Given the description of an element on the screen output the (x, y) to click on. 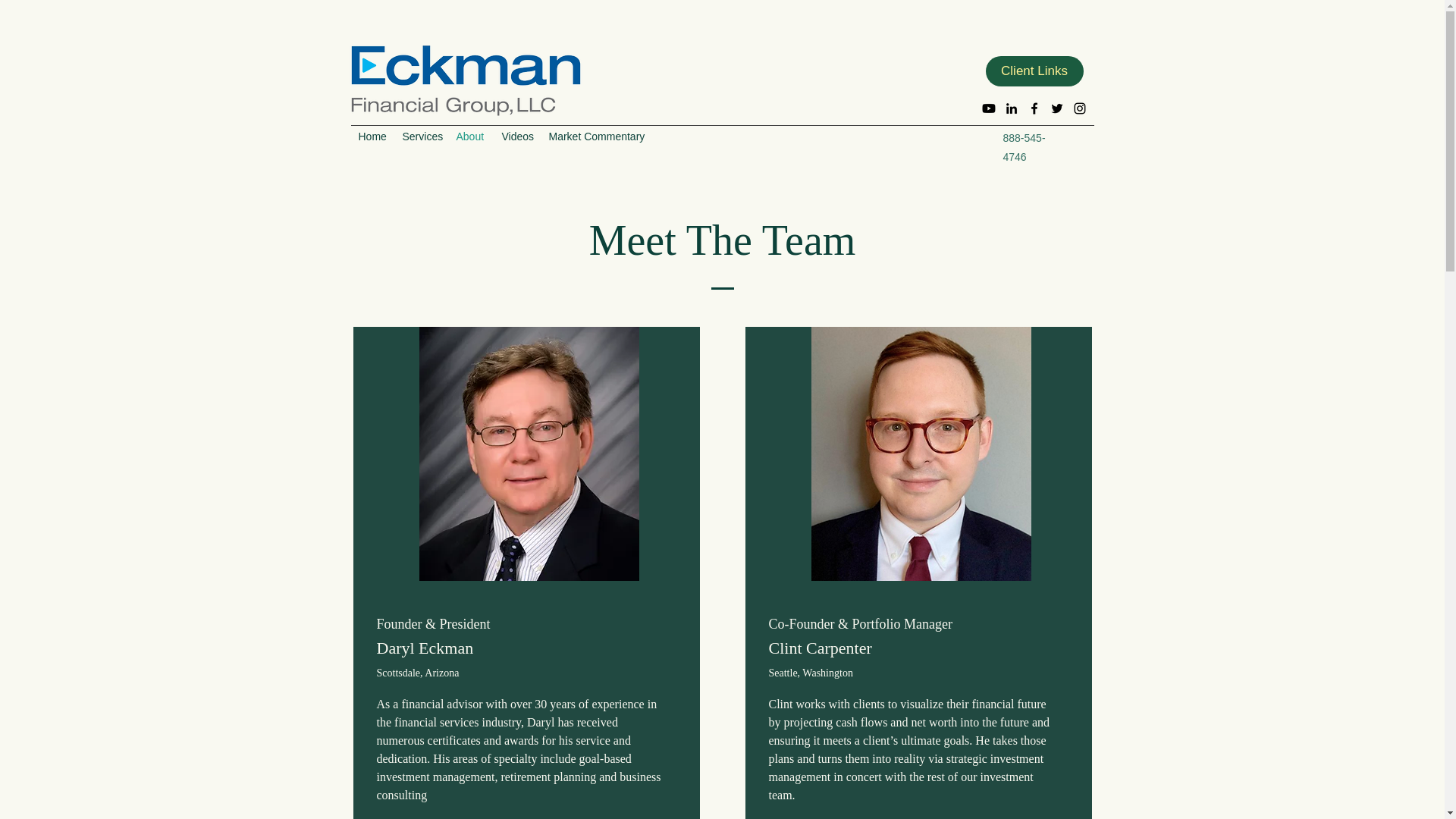
Services (421, 136)
About (471, 136)
Market Commentary (597, 136)
Videos (518, 136)
Client Links (1034, 71)
Home (372, 136)
